Given the description of an element on the screen output the (x, y) to click on. 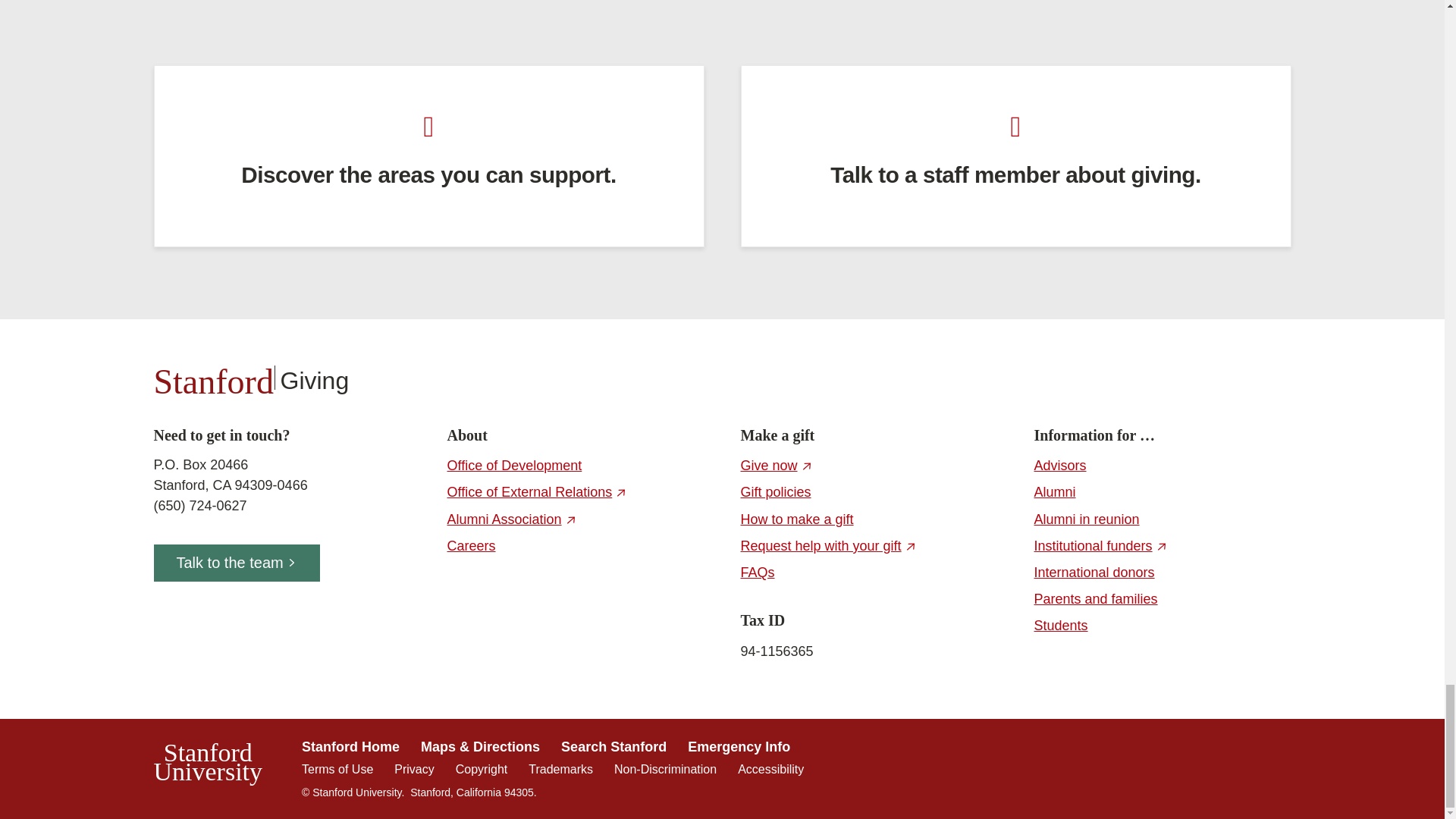
Privacy and cookie policy (413, 768)
Report web accessibility issues (770, 768)
Report alleged copyright infringement (480, 768)
Terms of use for sites (336, 768)
Non-discrimination policy (665, 768)
Ownership and use of Stanford trademarks and images (560, 768)
